Given the description of an element on the screen output the (x, y) to click on. 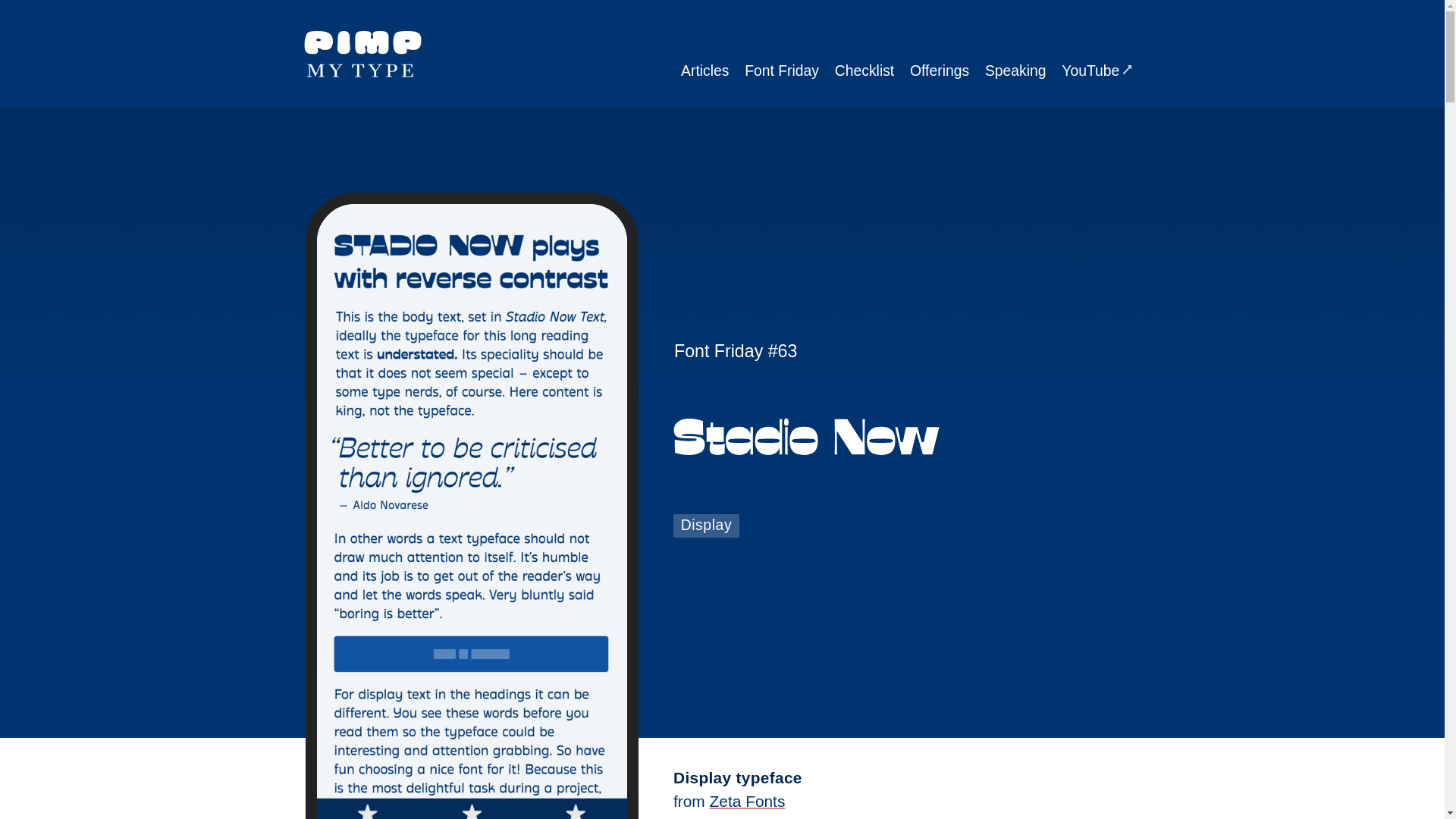
Checklist (863, 70)
Font Friday (782, 70)
Zeta Fonts (748, 800)
Display (705, 525)
Offerings (939, 70)
Speaking (1014, 70)
YouTube (1097, 70)
Articles (705, 70)
